Given the description of an element on the screen output the (x, y) to click on. 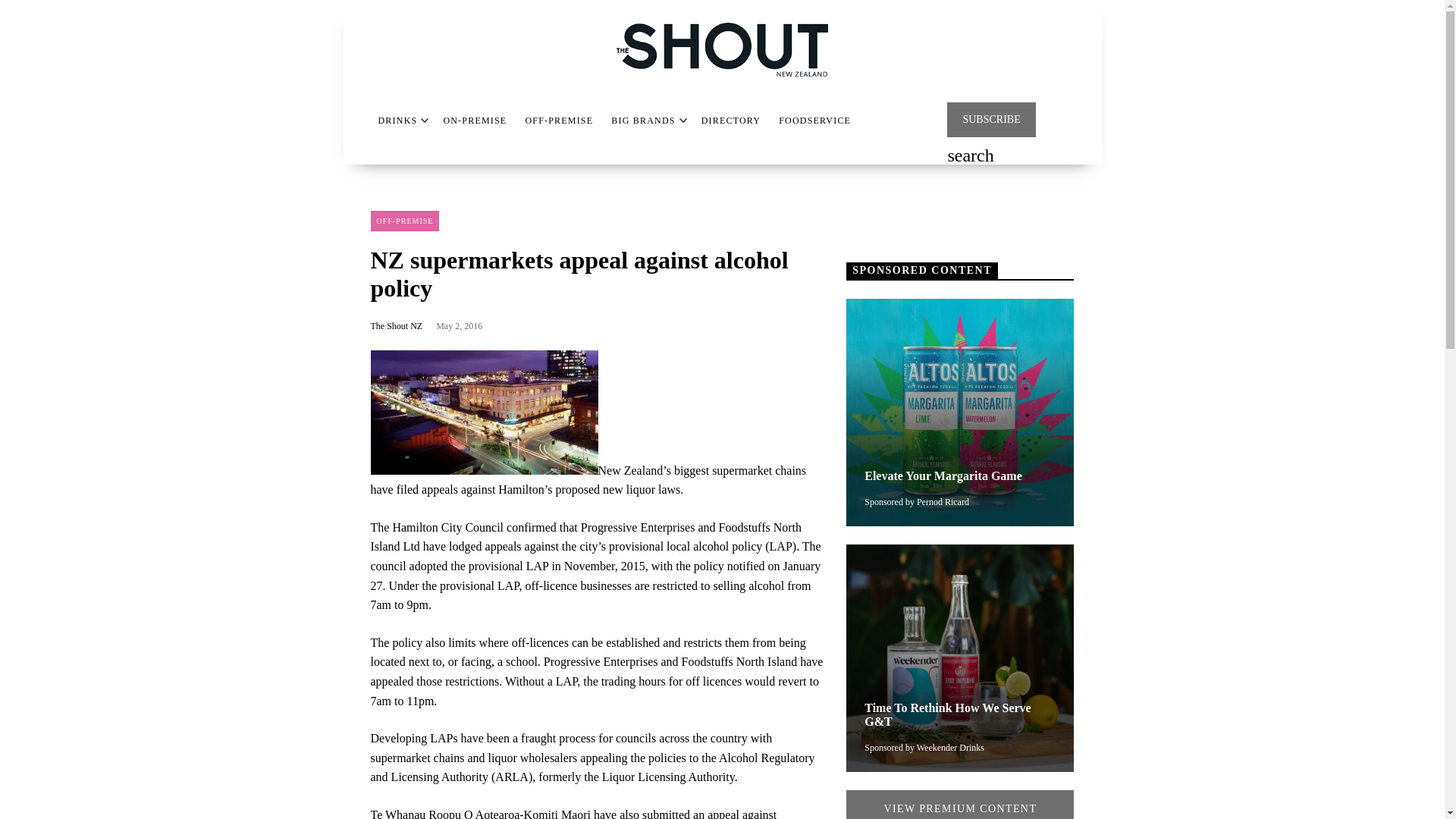
SUBSCRIBE (991, 119)
ON-PREMISE (474, 120)
OFF-PREMISE (558, 120)
BIG BRANDS (643, 120)
DRINKS (396, 120)
DIRECTORY (731, 120)
search (969, 156)
FOODSERVICE (814, 120)
